Given the description of an element on the screen output the (x, y) to click on. 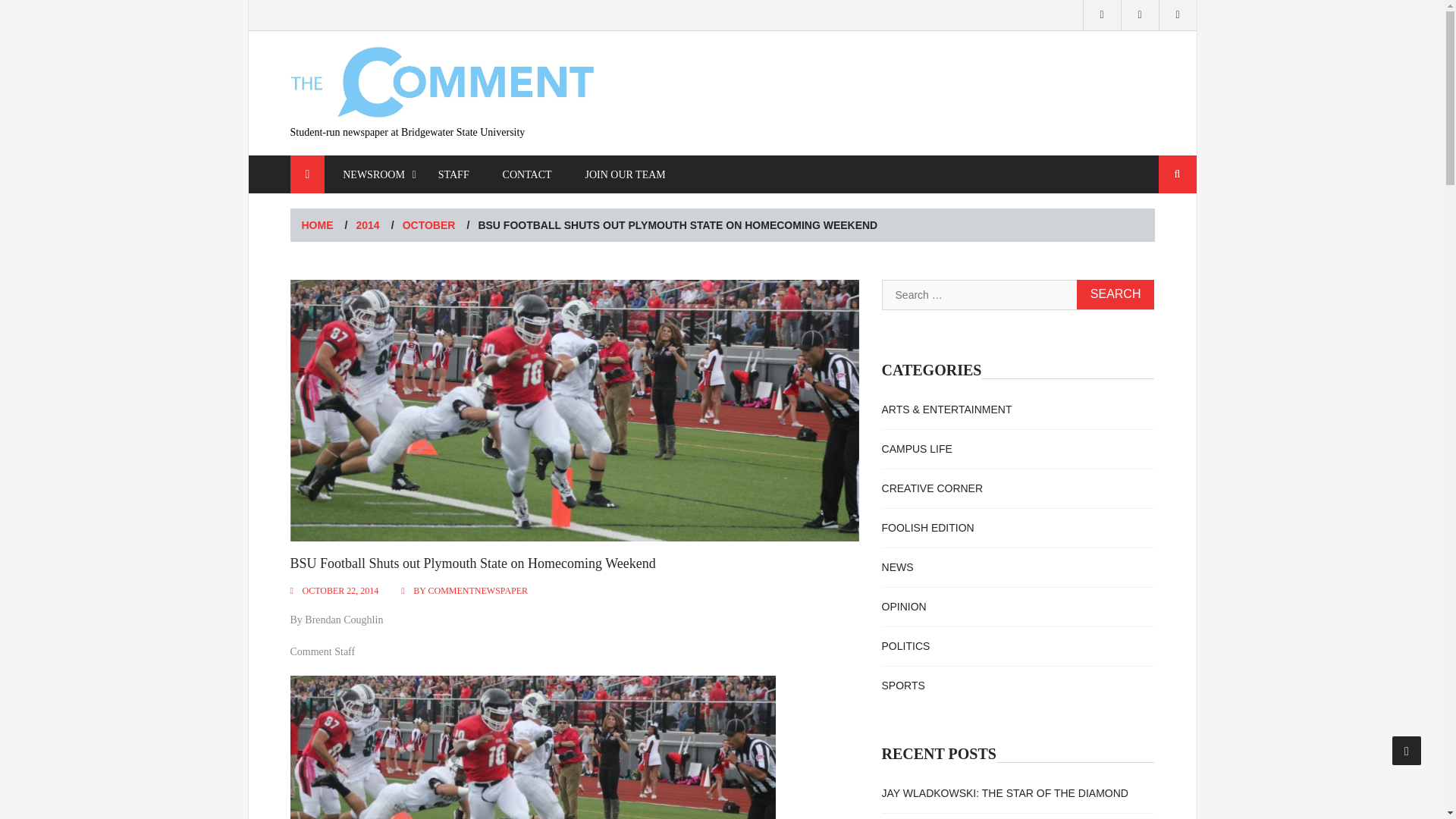
INSTAGRAM (1102, 15)
JOIN OUR TEAM (624, 174)
CONTACT (527, 174)
STAFF (453, 174)
HOME (317, 224)
Search (1177, 174)
Search (1115, 294)
TWITTER (1139, 15)
COMMENTNEWSPAPER (478, 590)
2014 (368, 224)
